Given the description of an element on the screen output the (x, y) to click on. 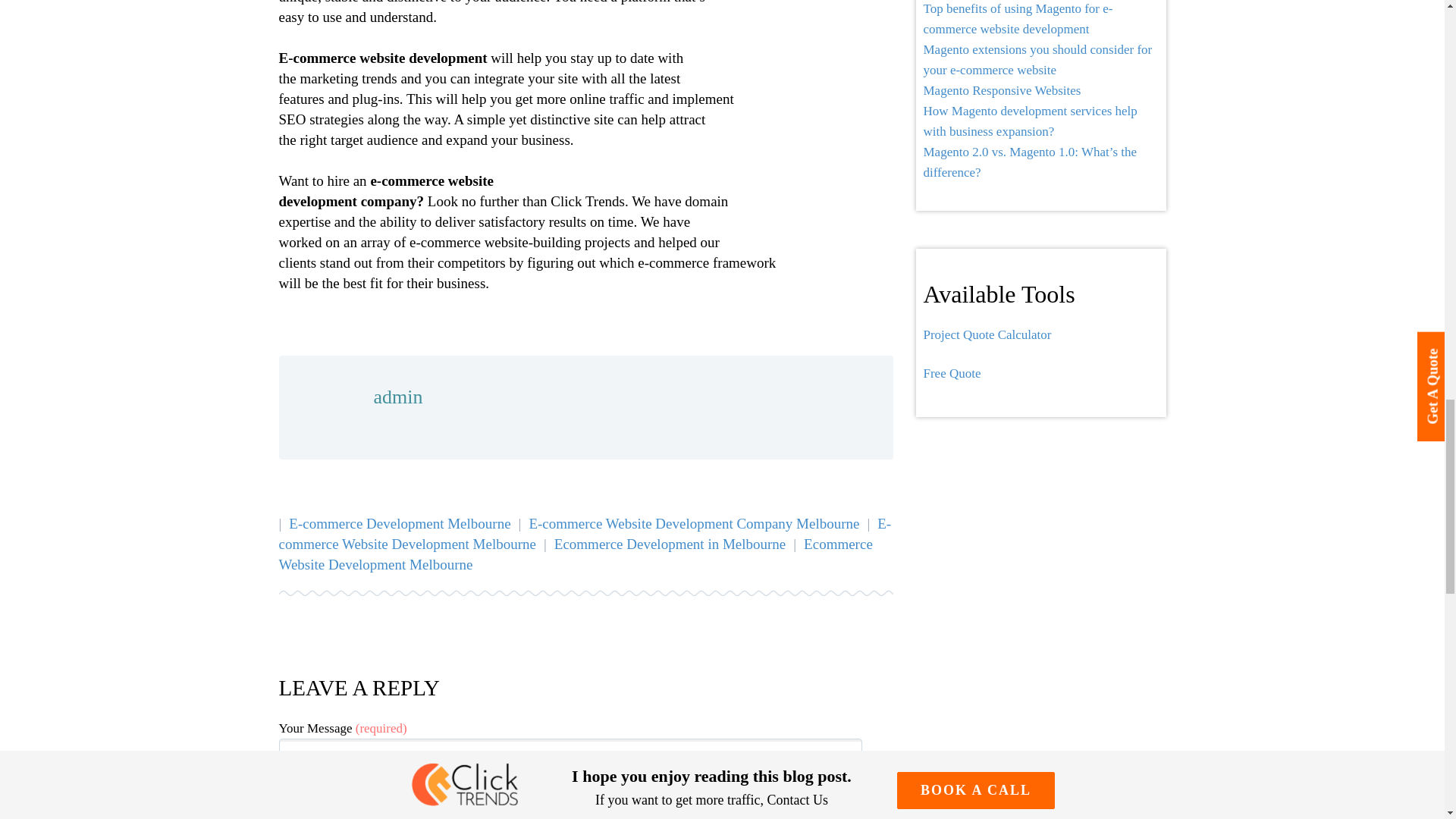
E-commerce Development Melbourne (399, 523)
E-commerce Website Development Melbourne (585, 533)
E-commerce Website Development Company Melbourne (693, 523)
Ecommerce Development in Melbourne (670, 544)
Ecommerce Website Development Melbourne (575, 554)
